Given the description of an element on the screen output the (x, y) to click on. 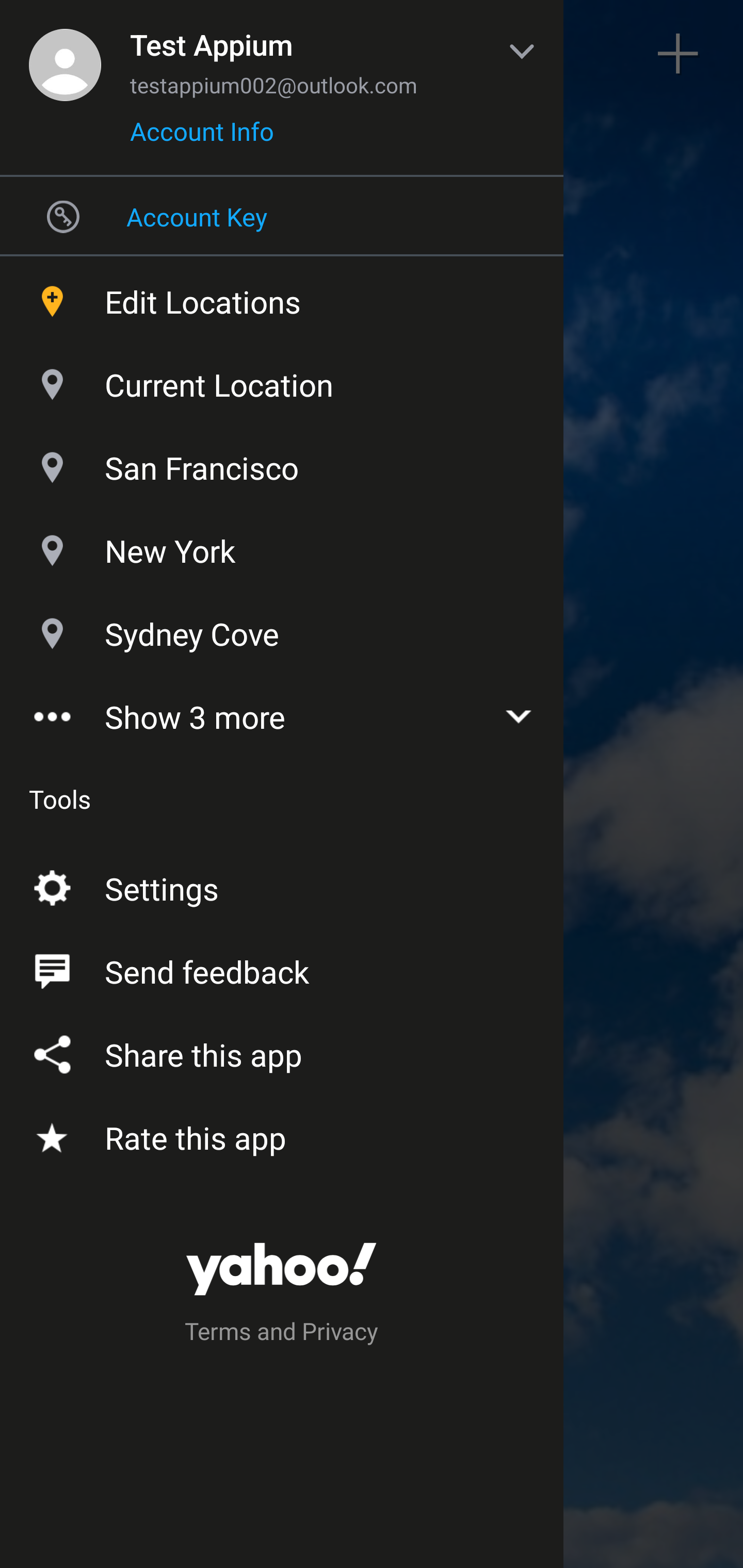
Sidebar (64, 54)
Account Info (202, 137)
Account Key (281, 216)
Edit Locations (281, 296)
Current Location (281, 379)
San Francisco (281, 462)
New York (281, 546)
Sydney Cove (281, 629)
Settings (281, 884)
Send feedback (281, 967)
Share this app (281, 1050)
Terms and Privacy Terms and privacy button (281, 1334)
